Given the description of an element on the screen output the (x, y) to click on. 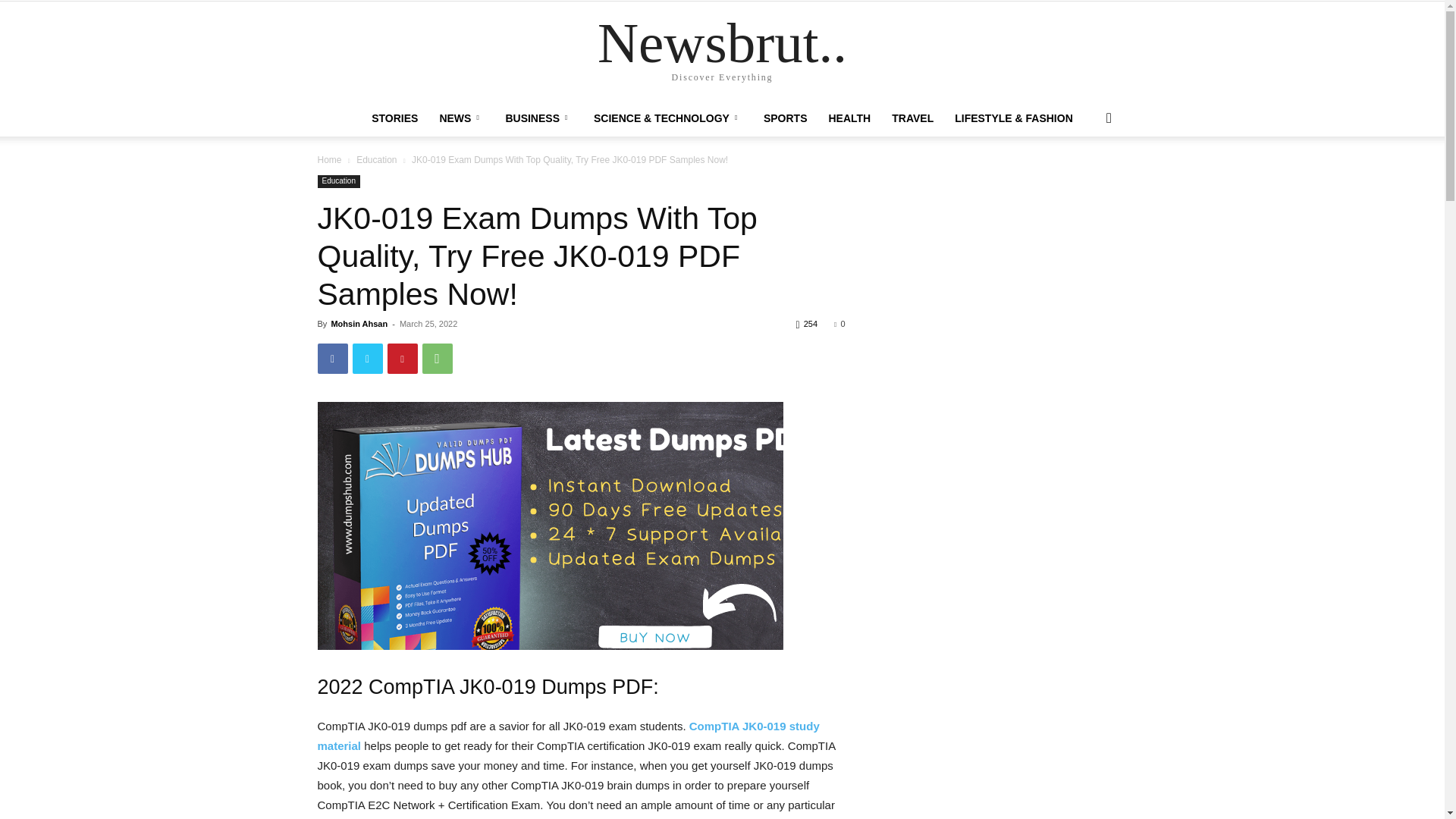
Search (1085, 178)
STORIES (394, 117)
Education (338, 181)
Home (328, 159)
Mohsin Ahsan (358, 323)
NEWS (461, 117)
Education (376, 159)
Facebook (332, 358)
TRAVEL (911, 117)
Twitter (366, 358)
WhatsApp (436, 358)
Newsbrut.. Discover Everything (721, 51)
View all posts in Education (376, 159)
0 (839, 323)
BUSINESS (539, 117)
